Given the description of an element on the screen output the (x, y) to click on. 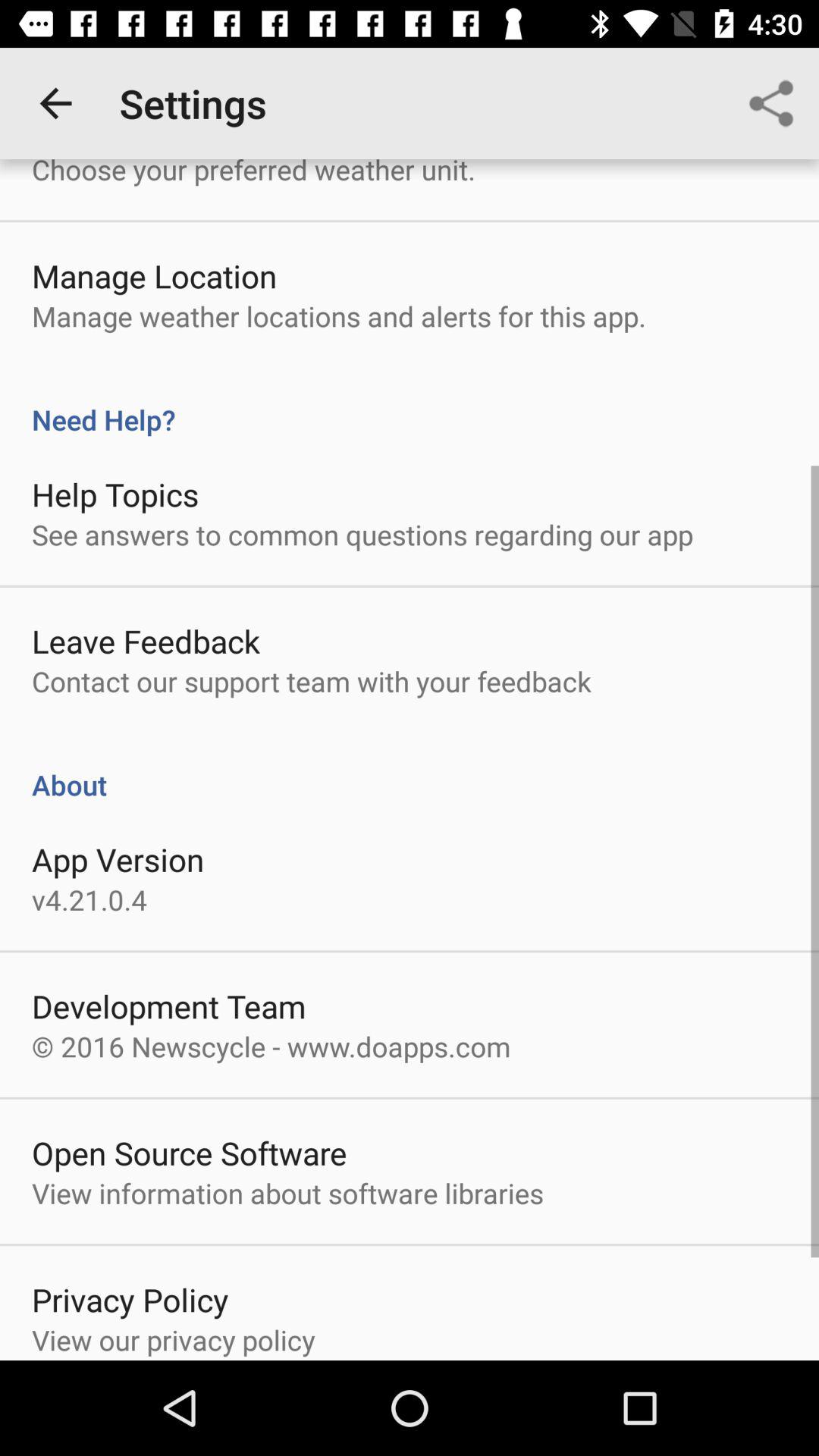
click icon next to the settings (55, 103)
